Given the description of an element on the screen output the (x, y) to click on. 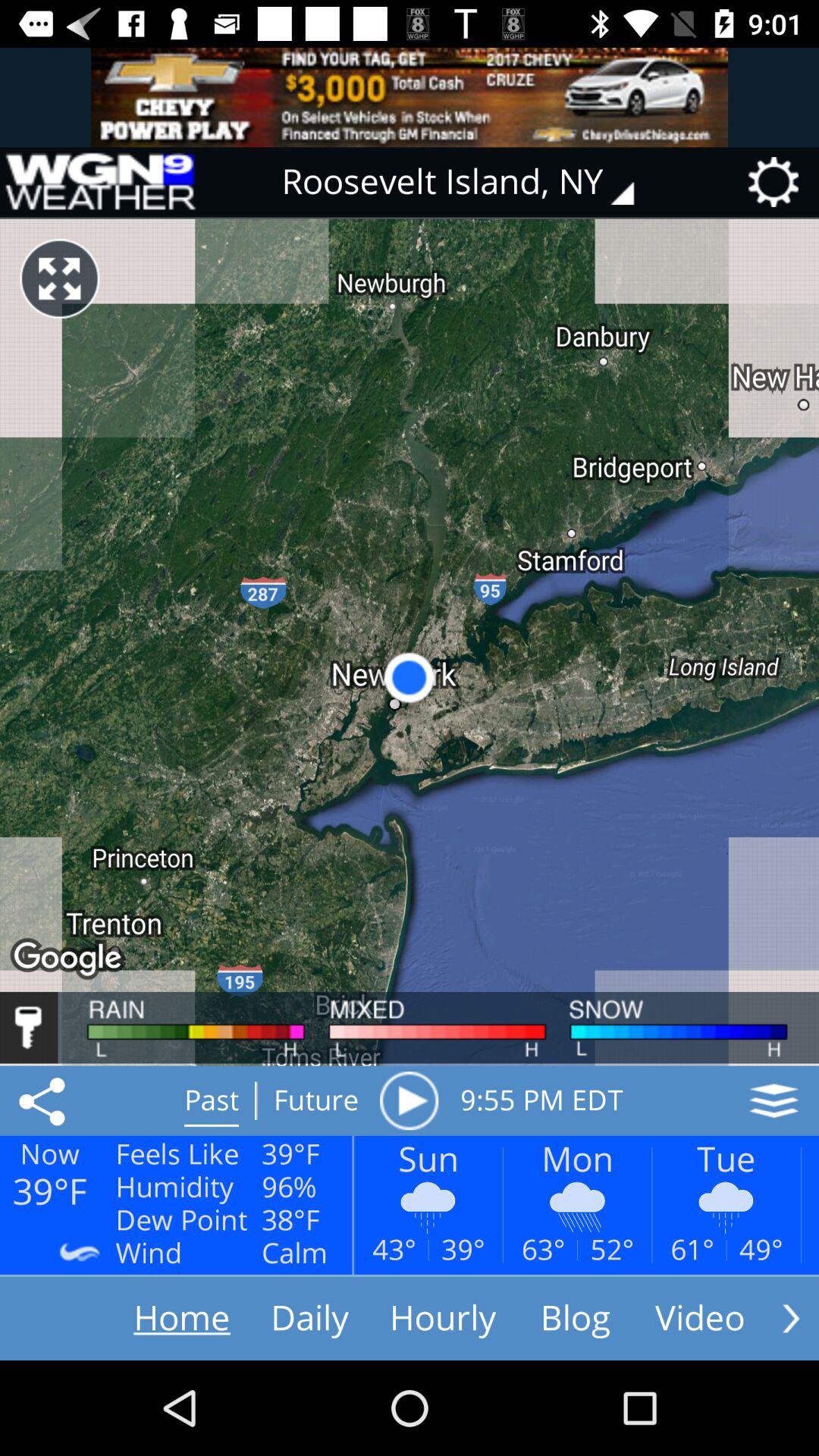
play button (409, 1100)
